Given the description of an element on the screen output the (x, y) to click on. 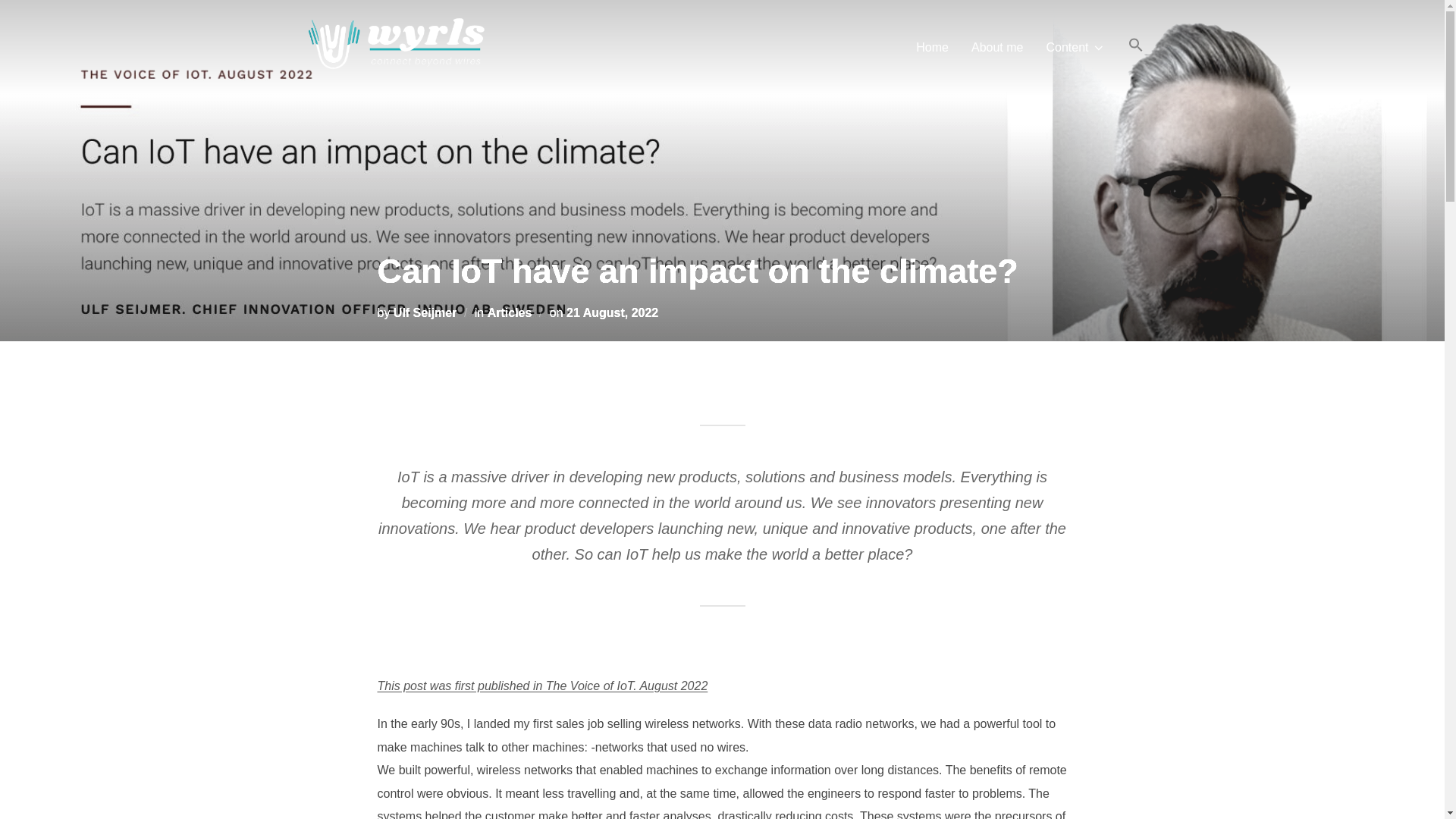
Content (1075, 47)
21 August, 2022 (612, 312)
About me (997, 47)
Ulf Seijmer (425, 312)
Home (932, 47)
Articles (509, 312)
